Given the description of an element on the screen output the (x, y) to click on. 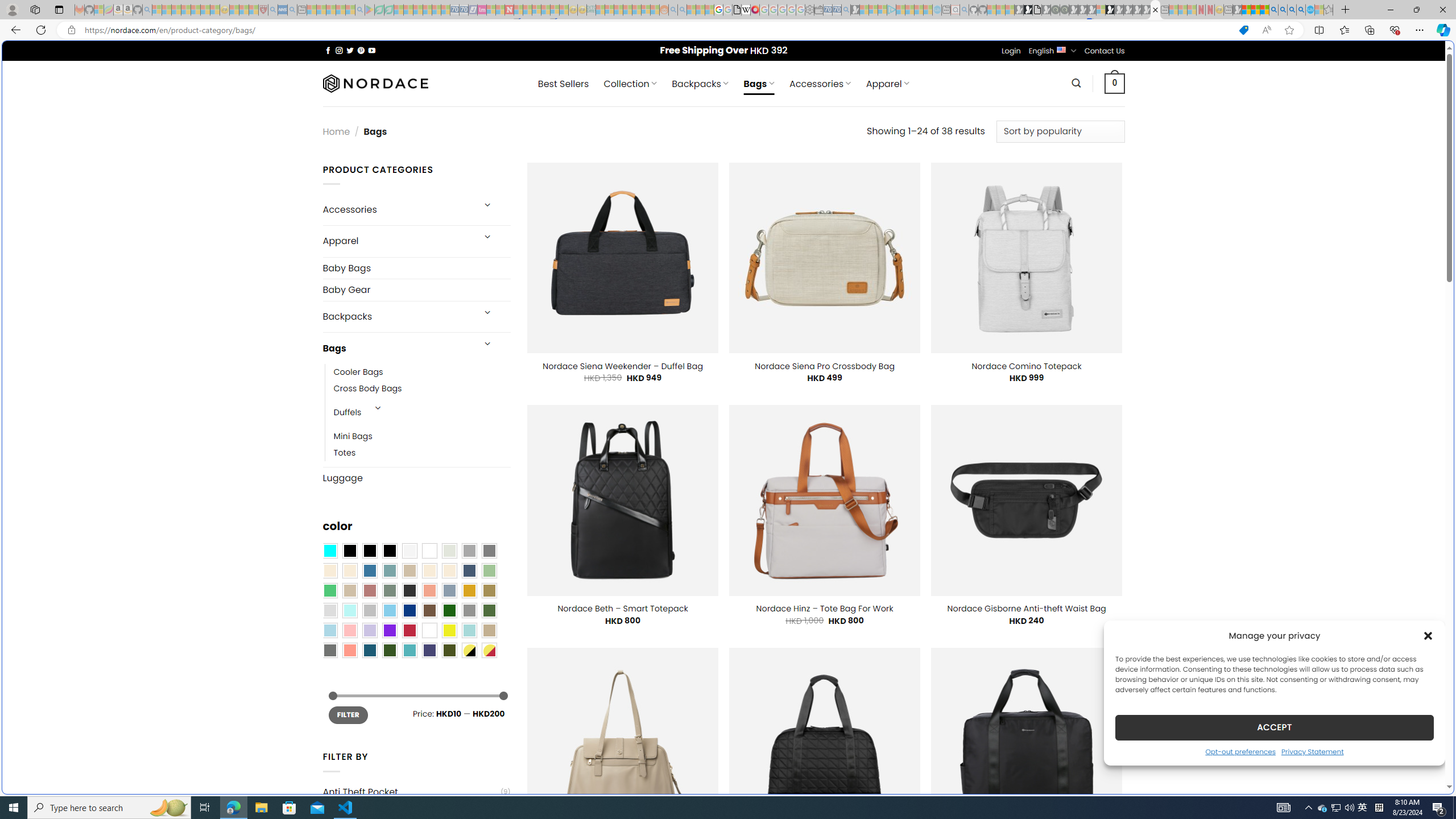
Class: cmplz-close (1428, 635)
Silver (369, 610)
Login (1010, 50)
Future Focus Report 2024 - Sleeping (1064, 9)
Cream (449, 570)
Purple Navy (429, 649)
